Given the description of an element on the screen output the (x, y) to click on. 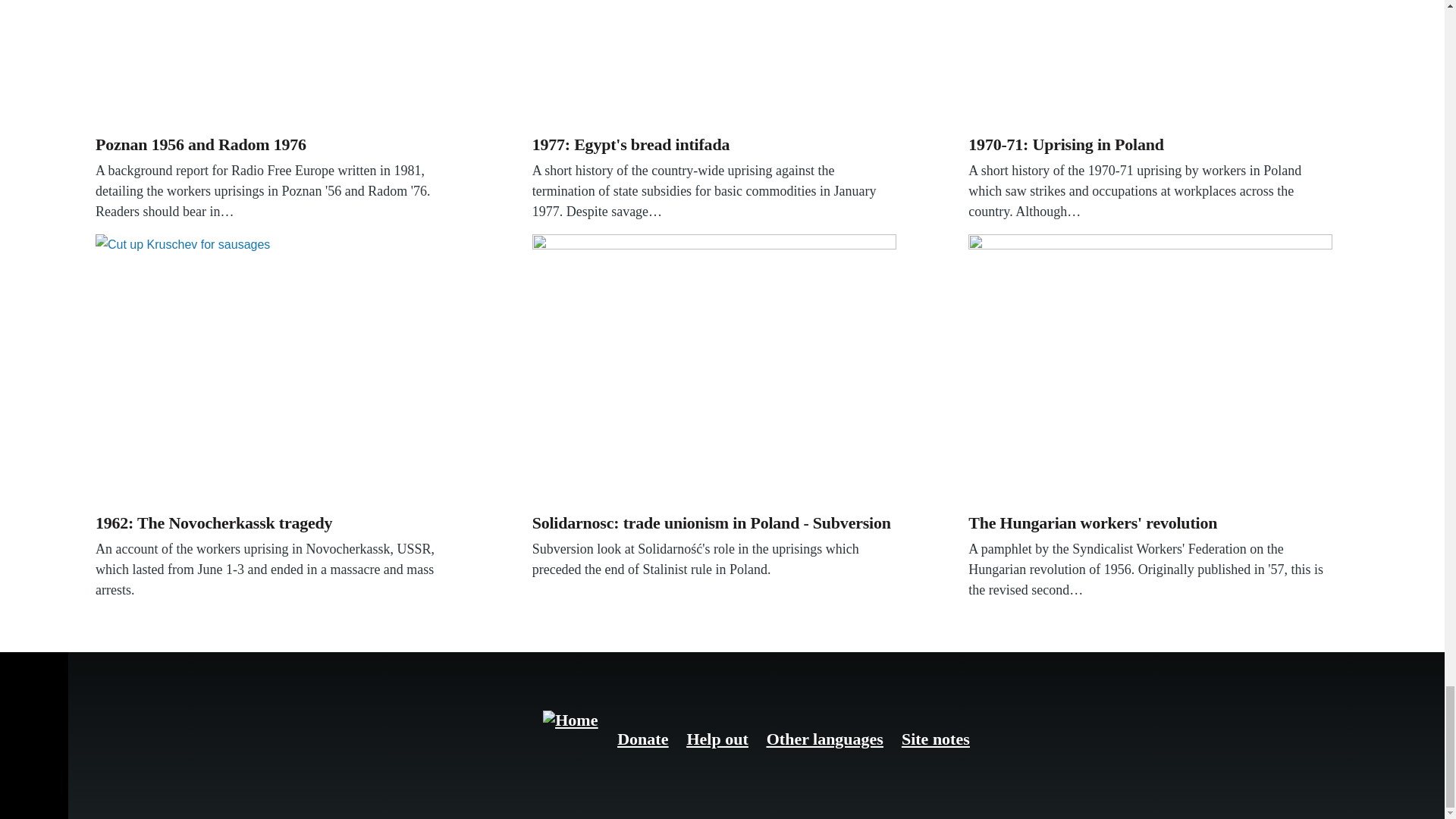
June-August 1976 Warsaw (278, 64)
1970 demonstration in Poland (1150, 64)
libcom content in languages other than English (825, 738)
